Given the description of an element on the screen output the (x, y) to click on. 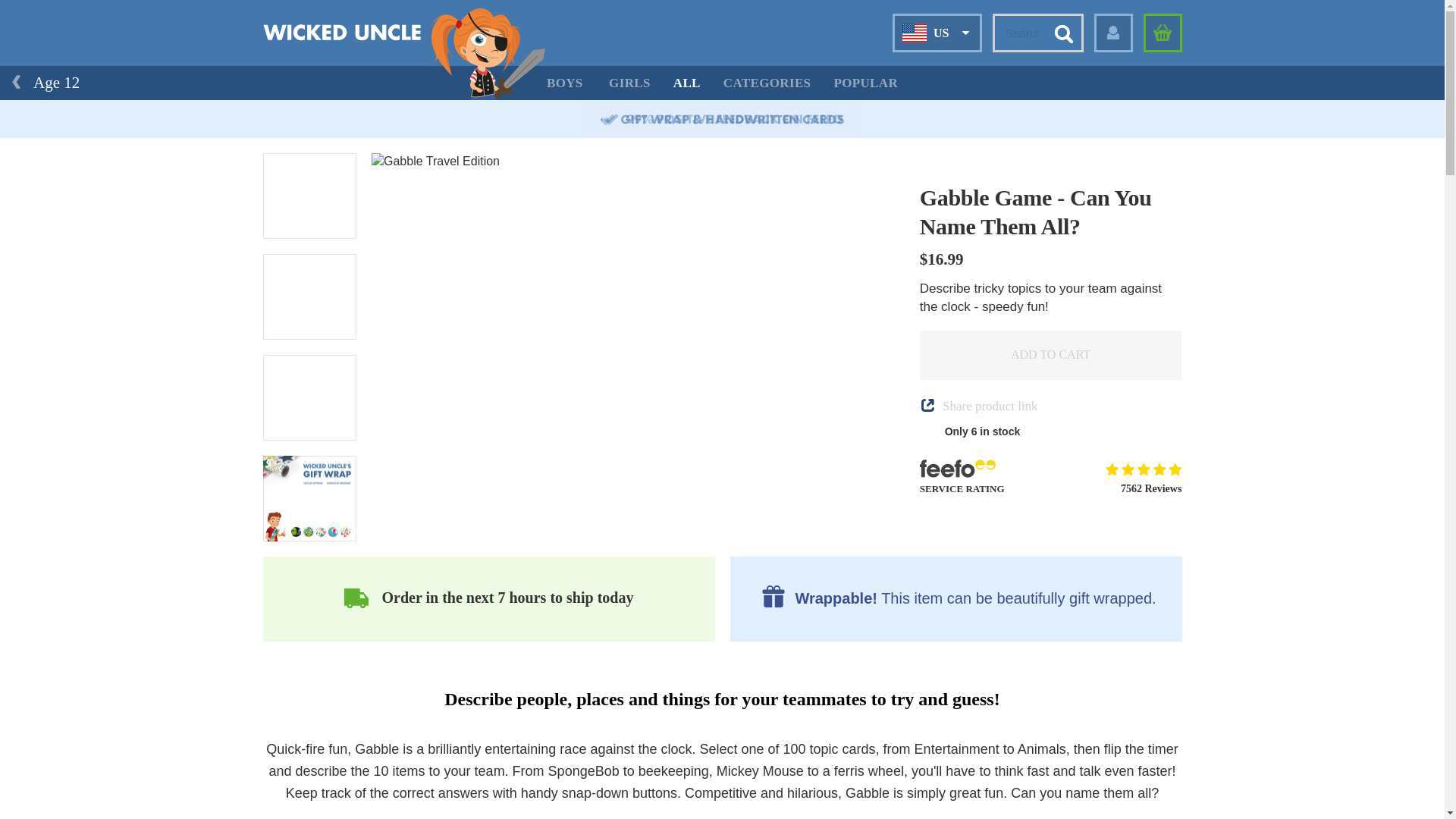
GIRLS (629, 82)
BOYS (564, 82)
UK (919, 66)
